Given the description of an element on the screen output the (x, y) to click on. 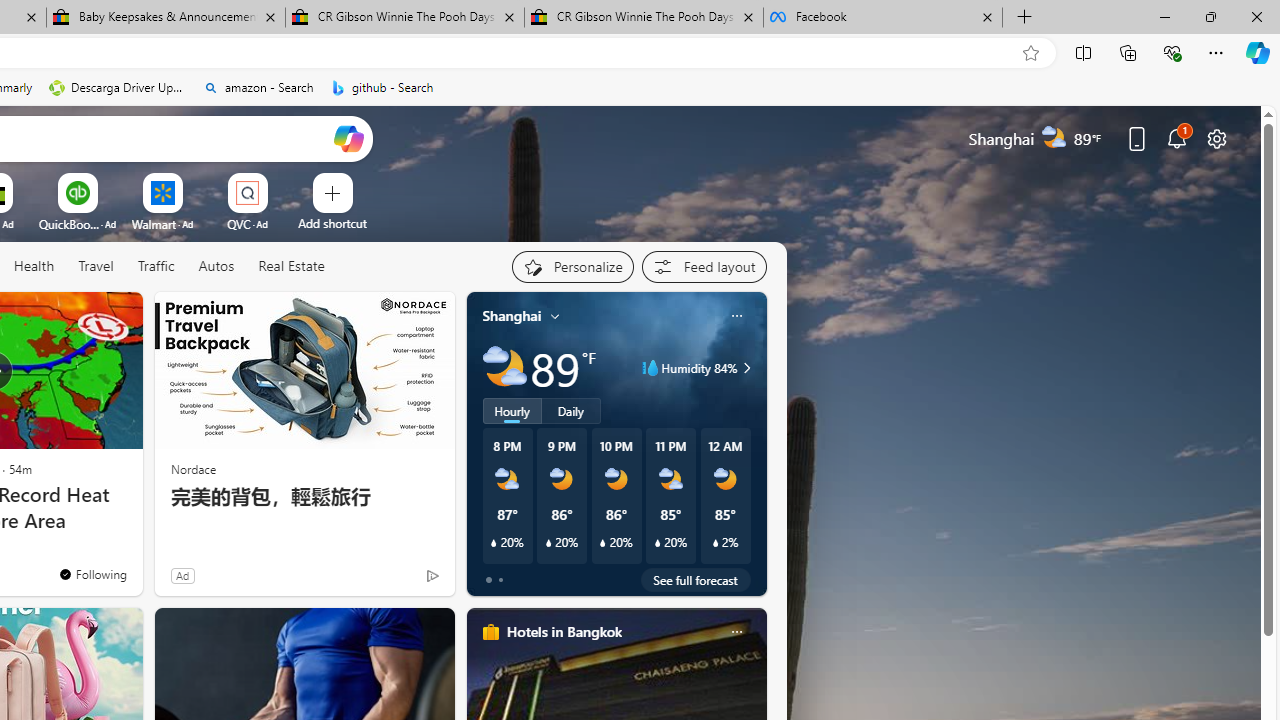
Health (34, 265)
Add a site (332, 223)
Travel (95, 267)
Personalize your feed" (571, 266)
Daily (571, 411)
Real Estate (290, 267)
See more (118, 315)
Notifications (1176, 138)
Baby Keepsakes & Announcements for sale | eBay (166, 17)
